Given the description of an element on the screen output the (x, y) to click on. 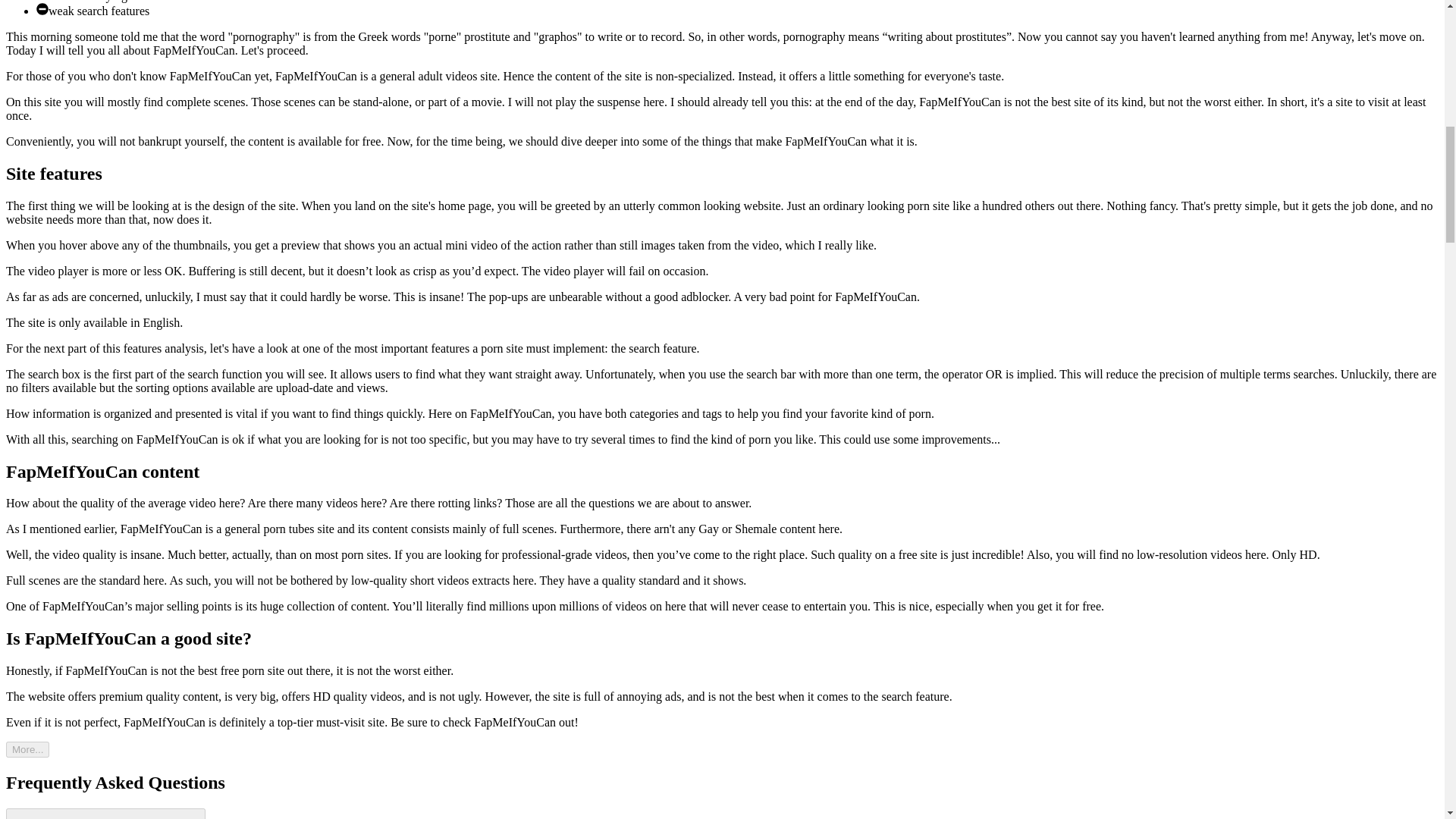
How to unblock FapMeIfYouCan? (105, 813)
More... (27, 749)
